Given the description of an element on the screen output the (x, y) to click on. 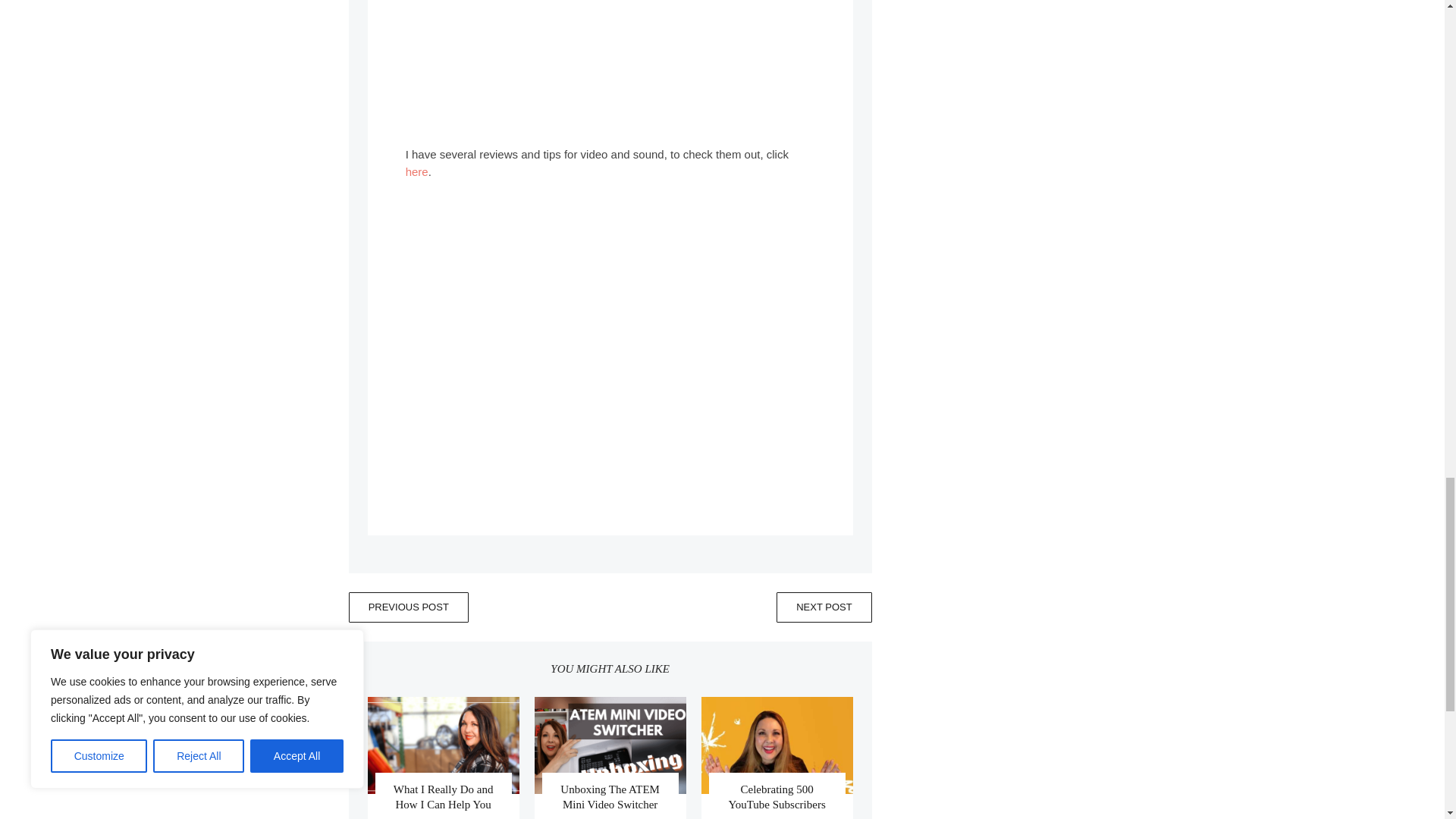
Unboxing The ATEM Mini Video Switcher (609, 796)
PREVIOUS POST (408, 607)
Celebrating 500 YouTube Subscribers (776, 796)
What I Really Do and How I Can Help You (443, 796)
here (417, 171)
NEXT POST (823, 607)
